Given the description of an element on the screen output the (x, y) to click on. 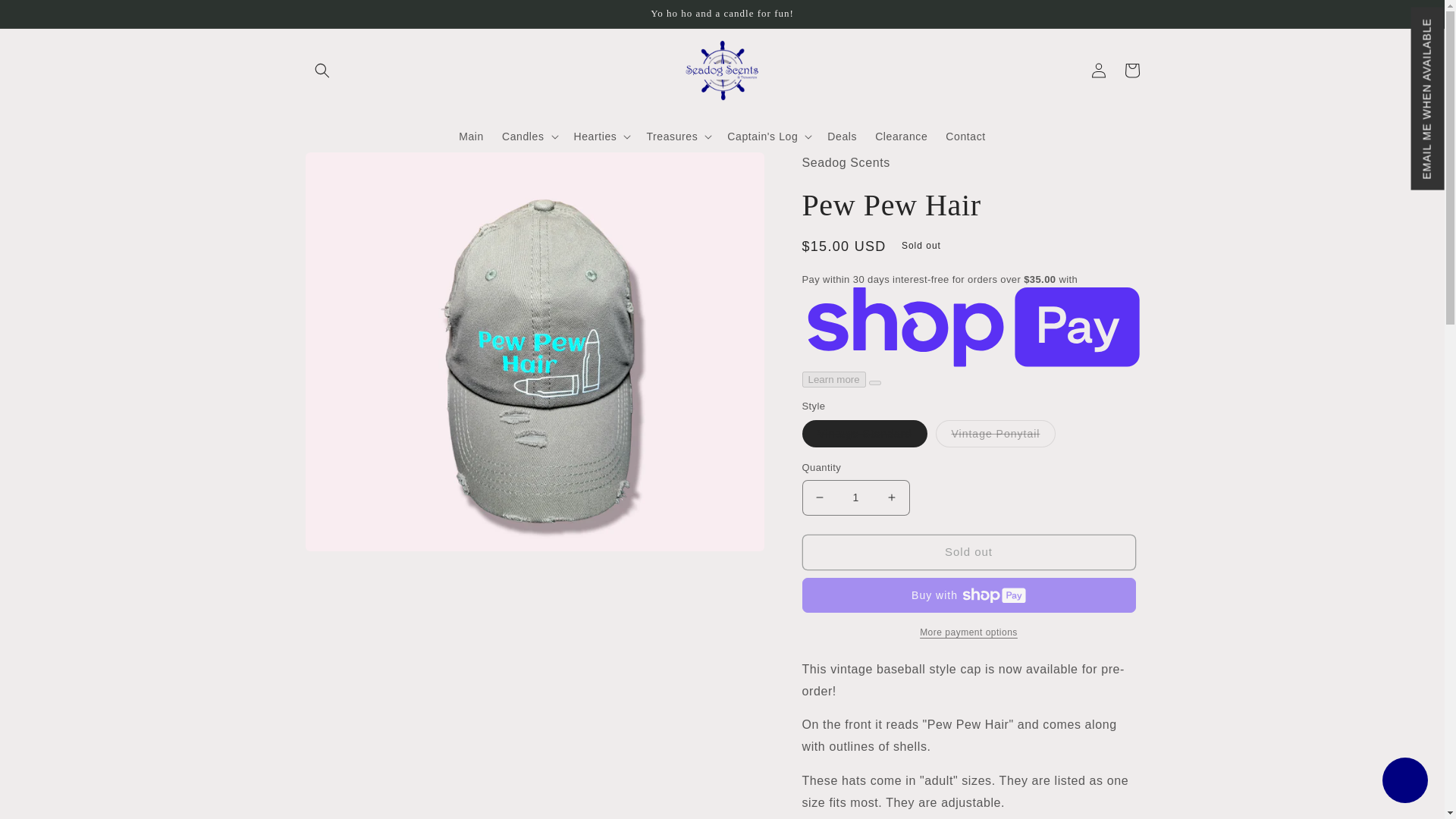
Shopify online store chat (1404, 781)
Main (471, 136)
1 (856, 497)
Skip to content (45, 17)
